Given the description of an element on the screen output the (x, y) to click on. 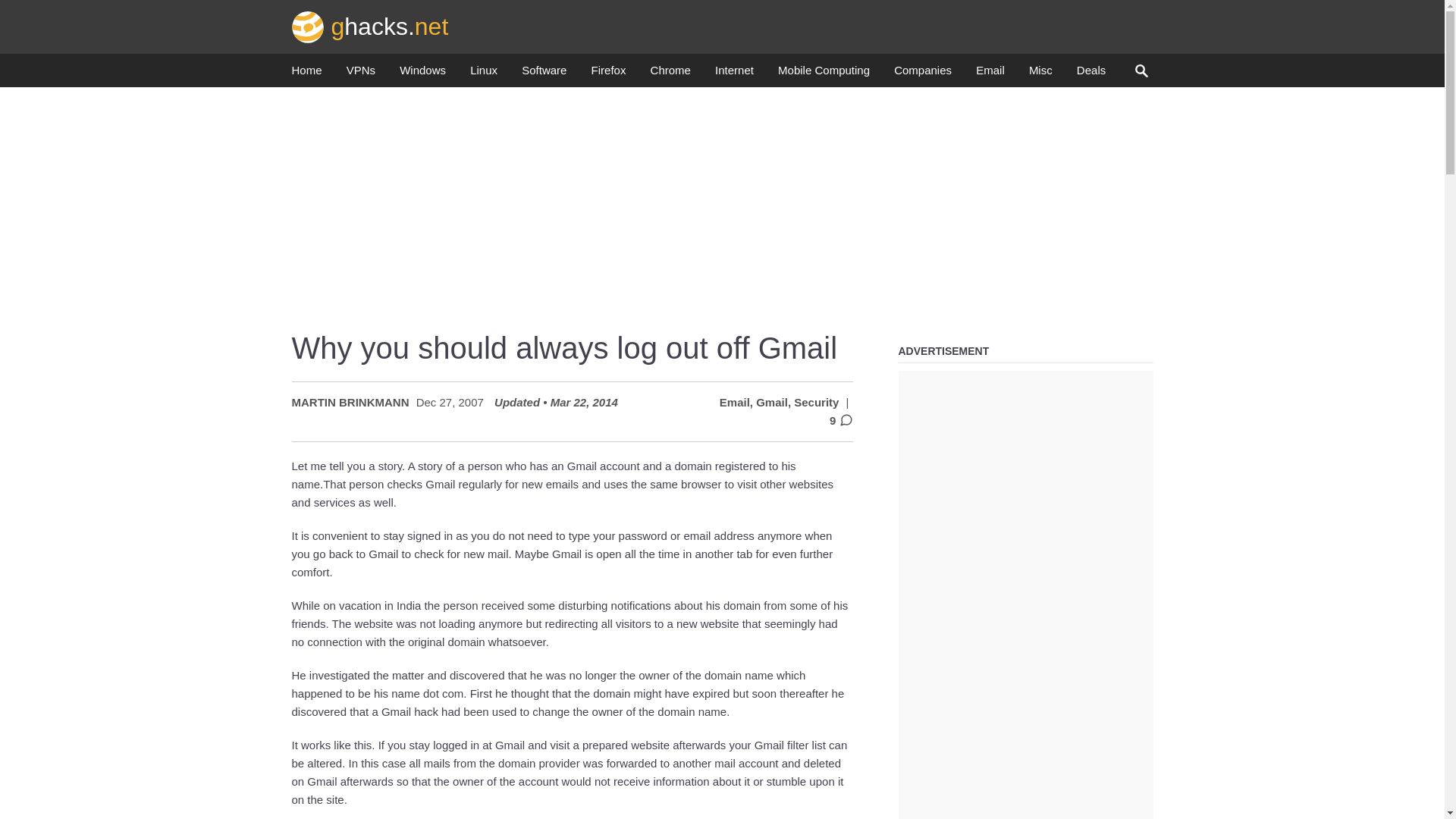
Internet (734, 73)
Deals (1091, 73)
ghacks.net (369, 26)
Windows (421, 73)
Mobile Computing (823, 73)
Linux (483, 73)
Email (989, 73)
Misc (1040, 73)
VPNs (360, 73)
Firefox (608, 73)
Companies (922, 73)
Chrome (670, 73)
Home (306, 73)
Software (543, 73)
